Given the description of an element on the screen output the (x, y) to click on. 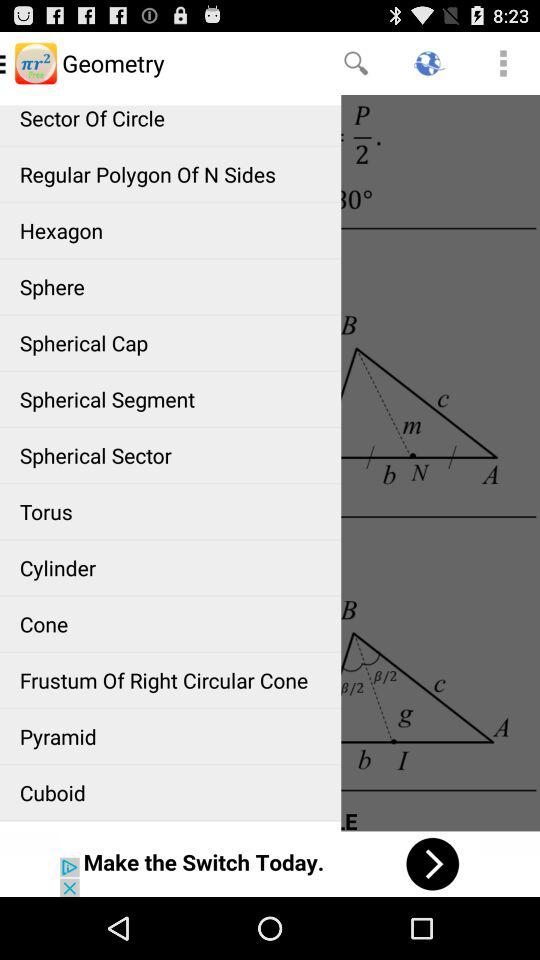
geometry article (270, 462)
